Given the description of an element on the screen output the (x, y) to click on. 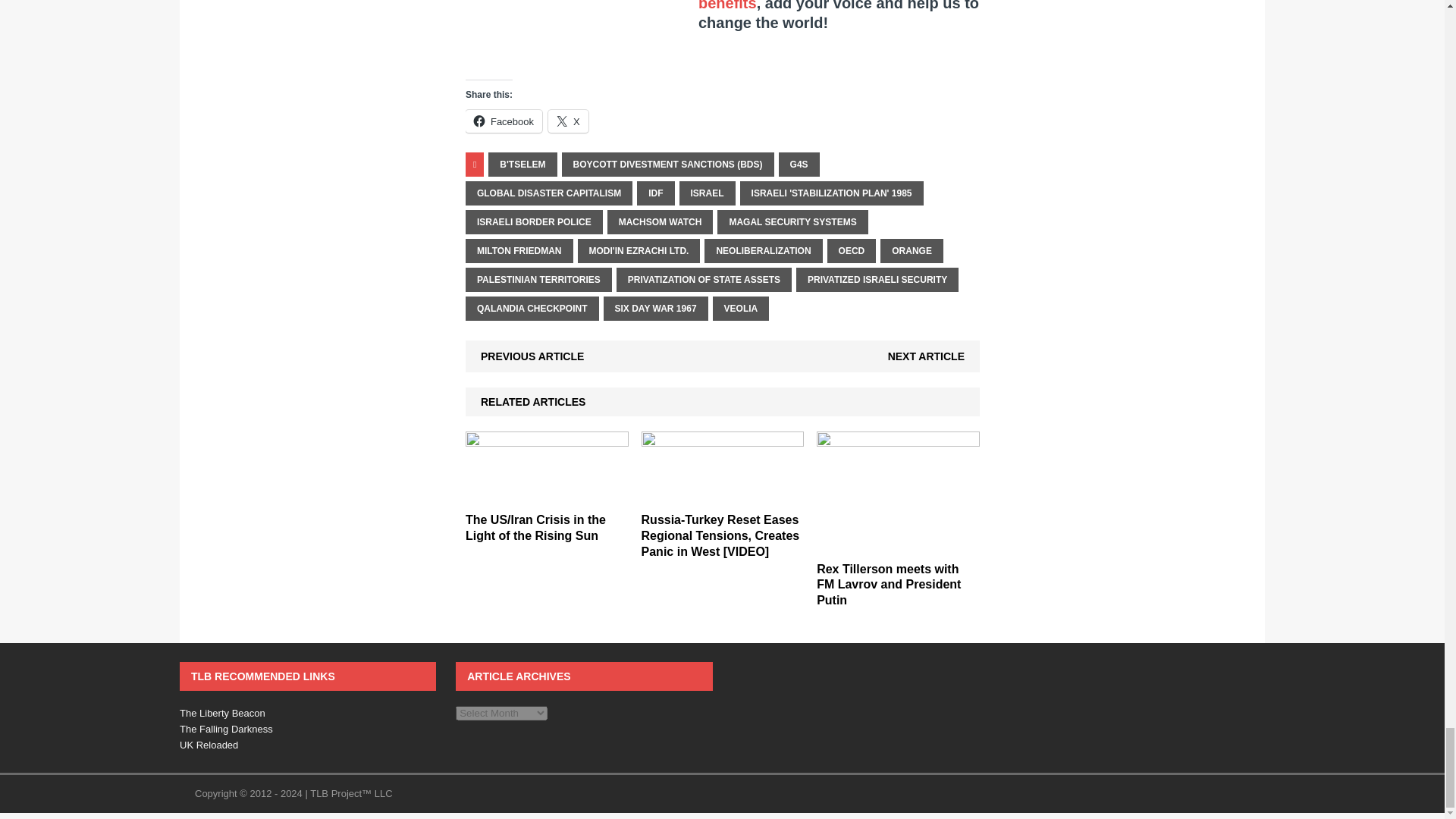
Click to share on Facebook (503, 120)
Rex Tillerson meets with FM Lavrov and President Putin (897, 544)
Click to share on X (568, 120)
Rex Tillerson meets with FM Lavrov and President Putin (888, 584)
